Given the description of an element on the screen output the (x, y) to click on. 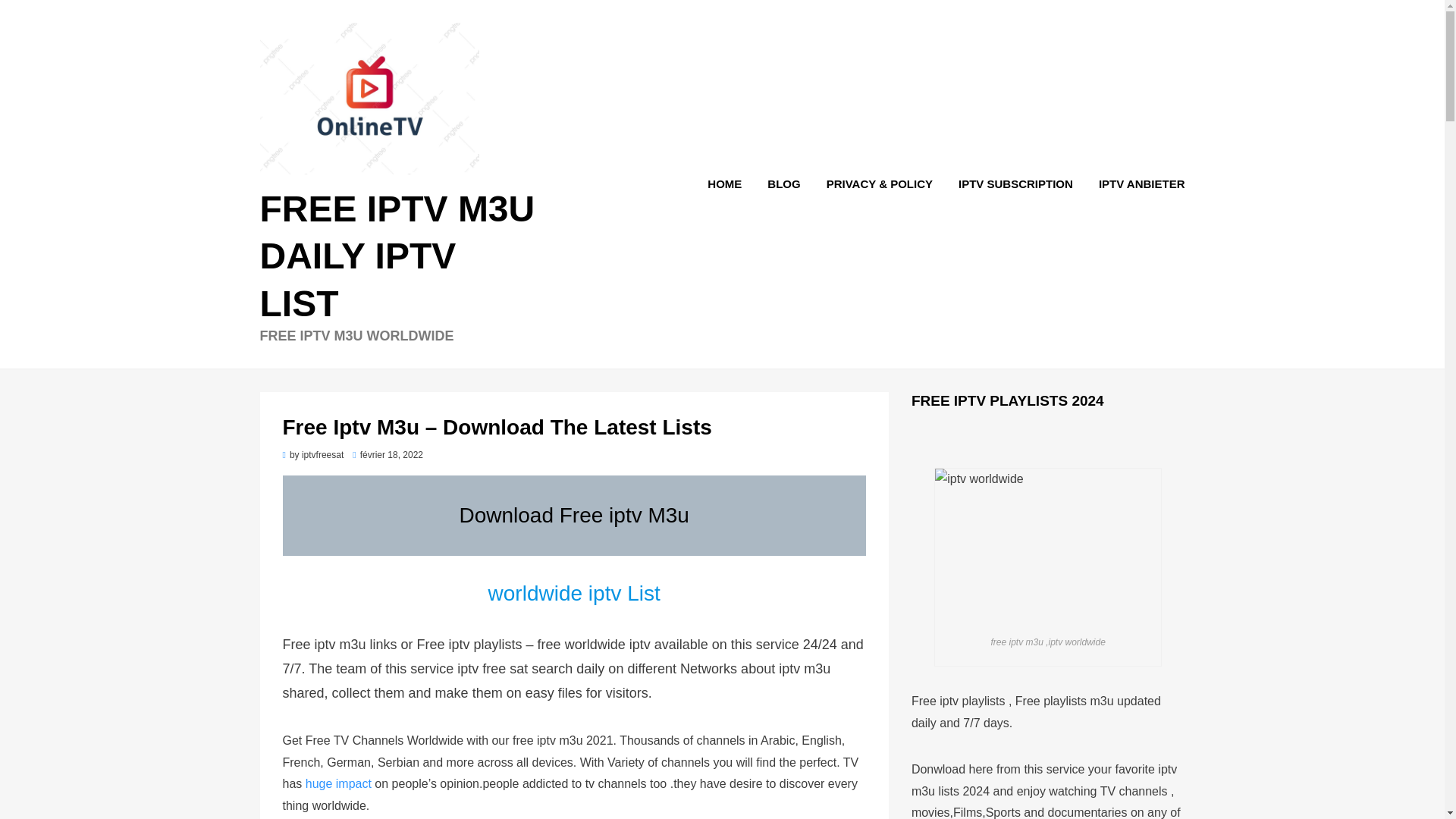
FREE IPTV M3U DAILY IPTV LIST (396, 256)
iptvfreesat (322, 454)
Free iptv playlists (958, 700)
HOME (724, 183)
BLOG (783, 183)
huge impact (338, 783)
Free iptv  M3u Daily Iptv List (396, 256)
IPTV ANBIETER (1135, 183)
IPTV SUBSCRIPTION (1015, 183)
